Given the description of an element on the screen output the (x, y) to click on. 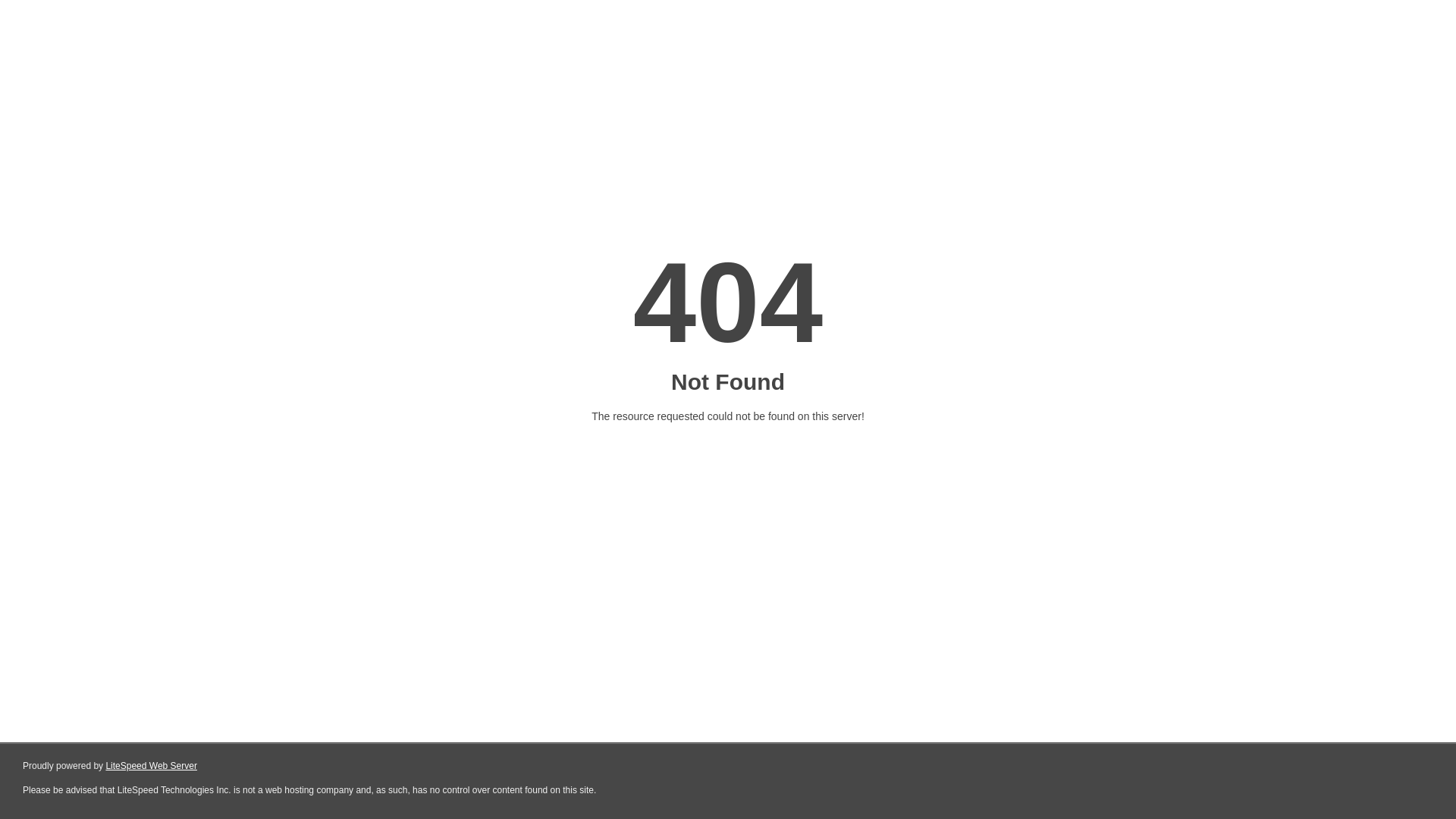
LiteSpeed Web Server Element type: text (151, 765)
